Given the description of an element on the screen output the (x, y) to click on. 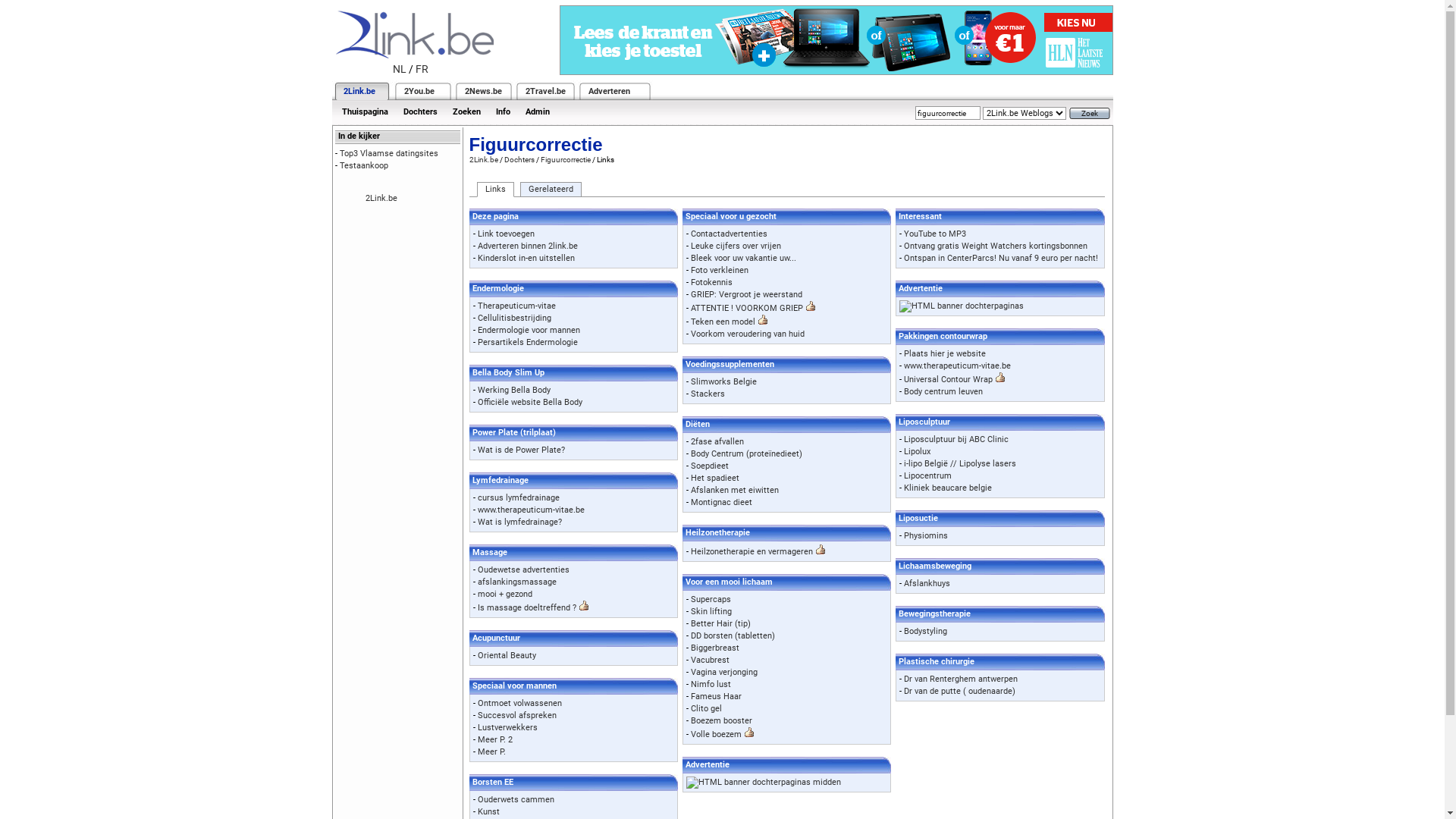
2Link.be Element type: text (358, 91)
Dr van de putte ( oudenaarde) Element type: text (959, 691)
Leuke cijfers over vrijen Element type: text (735, 246)
Kliniek beaucare belgie Element type: text (947, 487)
Nimfo lust Element type: text (710, 684)
Wat is lymfedrainage? Element type: text (519, 522)
Clito gel Element type: text (705, 708)
Top3 Vlaamse datingsites Element type: text (388, 153)
Afslanken met eiwitten Element type: text (734, 490)
Lipolux Element type: text (916, 451)
Contactadvertenties Element type: text (728, 233)
Universal Contour Wrap Element type: text (947, 379)
DD borsten (tabletten) Element type: text (732, 635)
www.therapeuticum-vitae.be Element type: text (956, 365)
Admin Element type: text (536, 111)
2You.be Element type: text (418, 91)
Thuispagina Element type: text (364, 111)
Biggerbreast Element type: text (714, 647)
2fase afvallen Element type: text (716, 441)
Heilzonetherapie en vermageren Element type: text (751, 551)
Slimworks Belgie Element type: text (723, 381)
Afslankhuys Element type: text (926, 583)
Adverteren binnen 2link.be Element type: text (527, 246)
afslankingsmassage Element type: text (516, 581)
Fameus Haar Element type: text (715, 696)
Physiomins Element type: text (925, 535)
Plaats hier je website Element type: text (944, 353)
Ontmoet volwassenen Element type: text (519, 703)
Is massage doeltreffend ? Element type: text (526, 607)
Kinderslot in-en uitstellen Element type: text (525, 258)
Stackers Element type: text (707, 393)
Meer P. Element type: text (491, 751)
Supercaps Element type: text (710, 599)
Bleek voor uw vakantie uw... Element type: text (743, 258)
2Link.be Element type: text (381, 198)
Better Hair (tip) Element type: text (720, 623)
Endermologie voor mannen Element type: text (528, 330)
cursus lymfedrainage Element type: text (518, 497)
Ouderwets cammen Element type: text (515, 799)
Wat is de Power Plate? Element type: text (520, 450)
Dochters Element type: text (420, 111)
Liposculptuur bij ABC Clinic Element type: text (955, 439)
Volle boezem Element type: text (715, 734)
Testaankoop Element type: text (363, 165)
Oriental Beauty Element type: text (506, 655)
Fotokennis Element type: text (711, 282)
2Travel.be Element type: text (544, 91)
Dr van Renterghem antwerpen Element type: text (960, 679)
Lustverwekkers Element type: text (507, 727)
Figuurcorrectie Element type: text (564, 159)
Dochters Element type: text (518, 159)
Lipocentrum Element type: text (927, 475)
Boezem booster Element type: text (721, 720)
Teken een model Element type: text (722, 321)
Info Element type: text (502, 111)
NL Element type: text (399, 68)
FR Element type: text (421, 68)
GRIEP: Vergroot je weerstand Element type: text (746, 294)
YouTube to MP3 Element type: text (934, 233)
Zoek Element type: text (1089, 113)
Werking Bella Body Element type: text (513, 390)
Links Element type: text (494, 189)
mooi + gezond Element type: text (504, 594)
Persartikels Endermologie Element type: text (527, 342)
Ontspan in CenterParcs! Nu vanaf 9 euro per nacht! Element type: text (1000, 258)
Link toevoegen Element type: text (505, 233)
ATTENTIE ! VOORKOM GRIEP Element type: text (746, 308)
Kunst Element type: text (488, 811)
Skin lifting Element type: text (710, 611)
Vagina verjonging Element type: text (723, 672)
Bodystyling Element type: text (925, 631)
Body centrum leuven Element type: text (942, 391)
Gerelateerd Element type: text (550, 189)
Foto verkleinen Element type: text (719, 270)
www.therapeuticum-vitae.be Element type: text (530, 509)
Ontvang gratis Weight Watchers kortingsbonnen Element type: text (995, 246)
Therapeuticum-vitae Element type: text (516, 305)
Voorkom veroudering van huid Element type: text (747, 333)
Zoeken Element type: text (465, 111)
Het spadieet Element type: text (714, 478)
2Link.be Element type: text (482, 159)
2News.be Element type: text (482, 91)
Montignac dieet Element type: text (721, 502)
Oudewetse advertenties Element type: text (523, 569)
Succesvol afspreken Element type: text (516, 715)
Cellulitisbestrijding Element type: text (514, 318)
Soepdieet Element type: text (709, 465)
Meer P. 2 Element type: text (494, 739)
Adverteren Element type: text (609, 91)
Vacubrest Element type: text (709, 660)
